Given the description of an element on the screen output the (x, y) to click on. 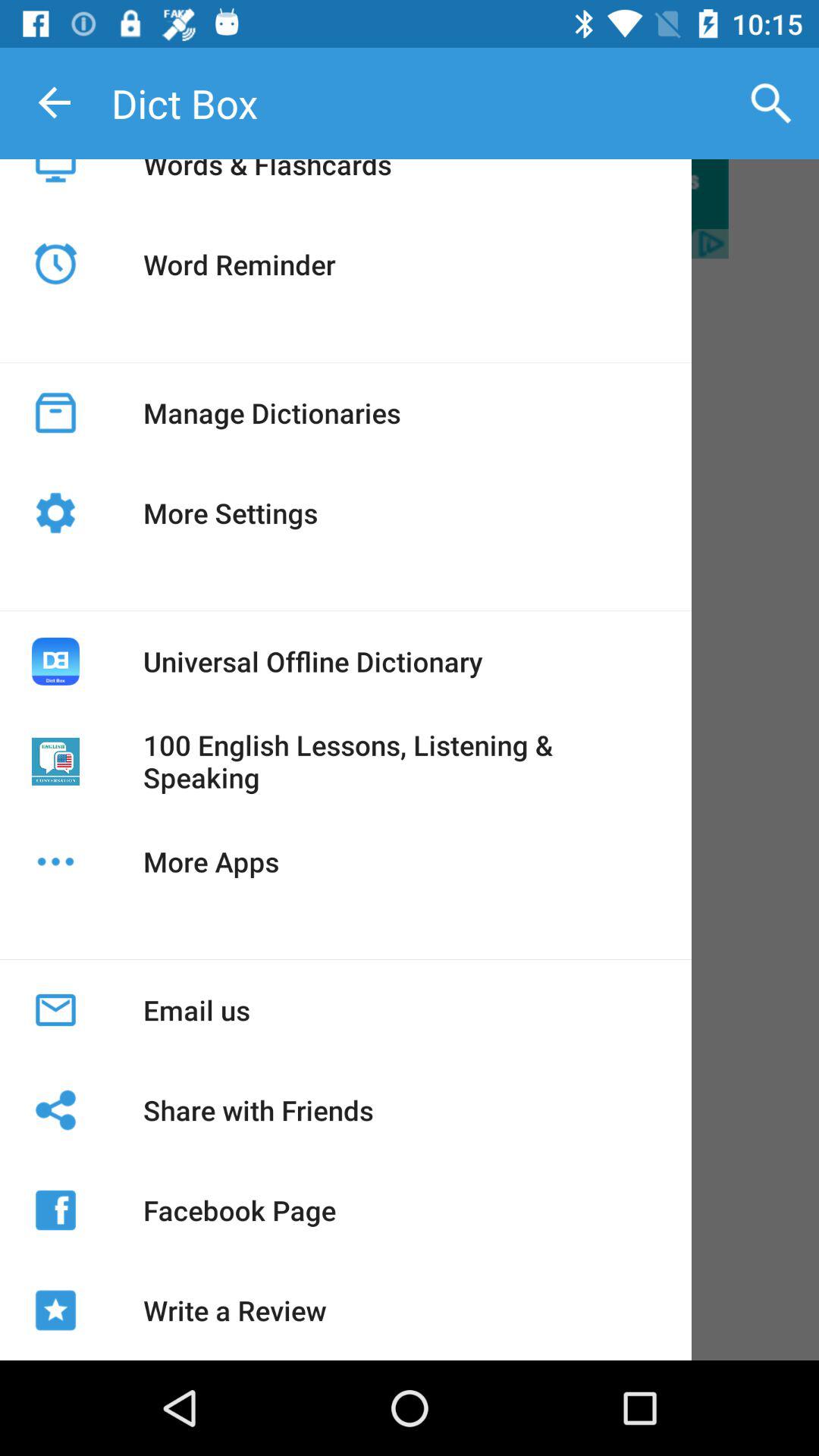
click 100 english lessons icon (401, 761)
